Given the description of an element on the screen output the (x, y) to click on. 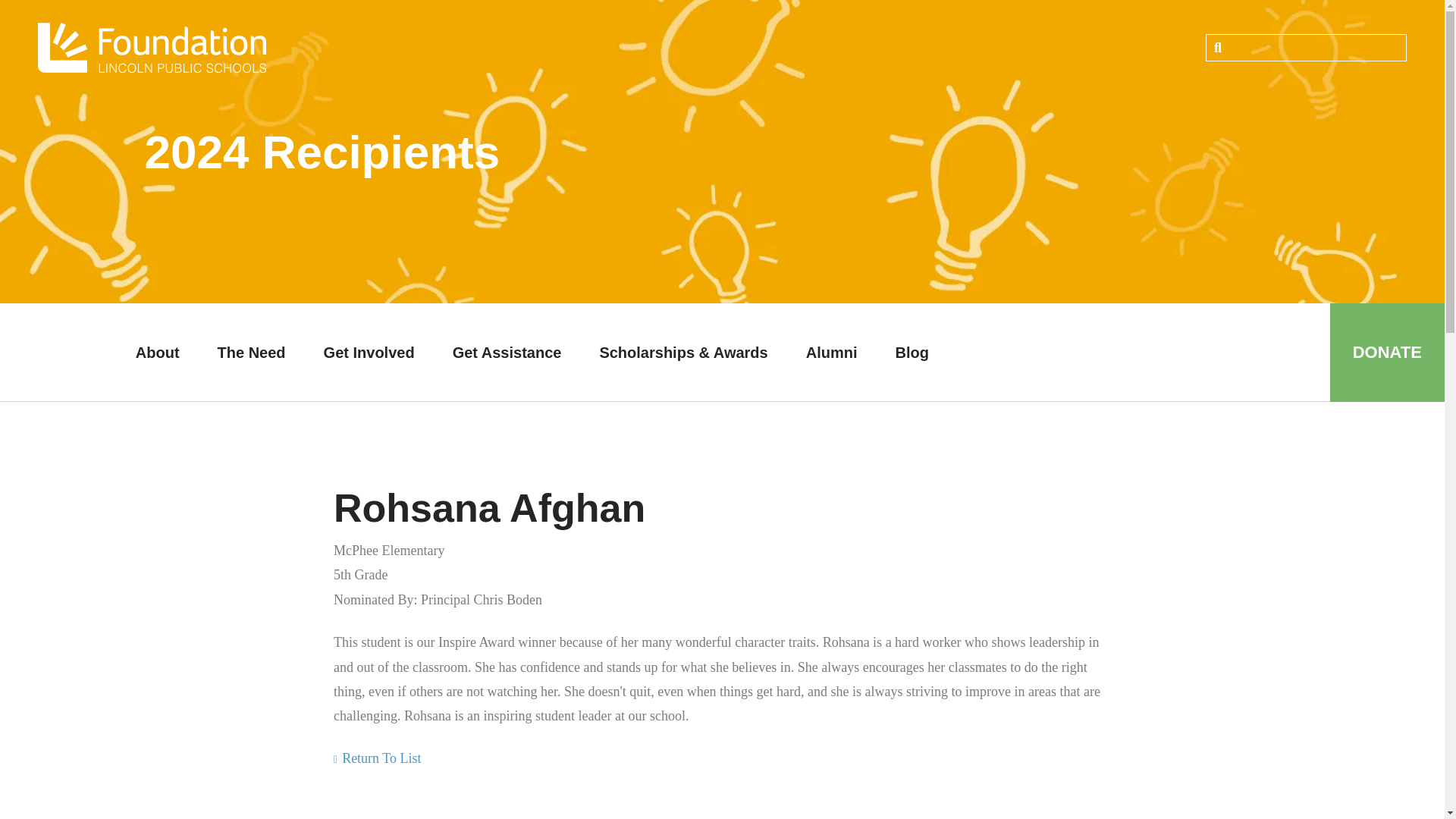
logo (151, 47)
